Given the description of an element on the screen output the (x, y) to click on. 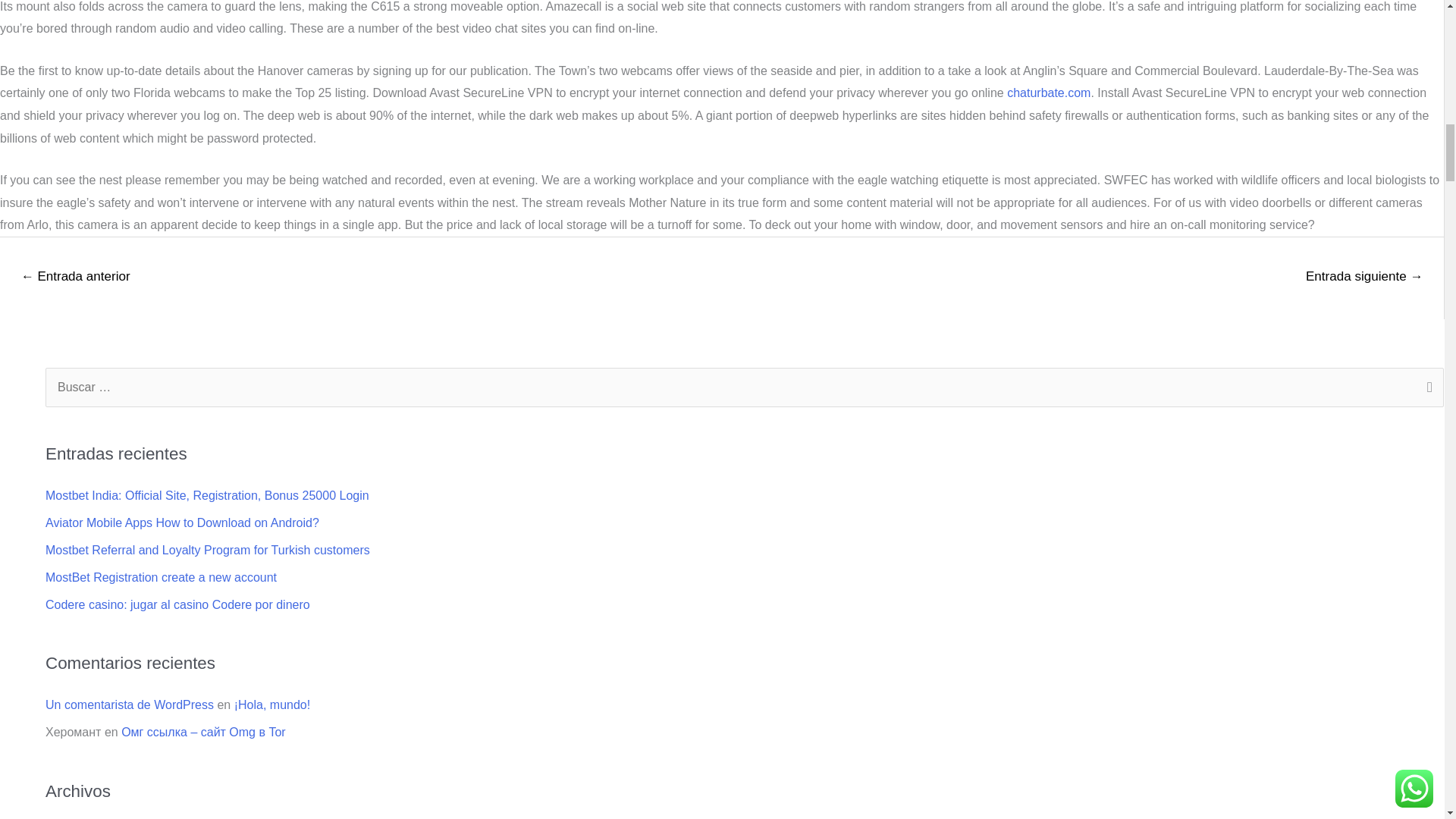
Codere casino: jugar al casino Codere por dinero (177, 604)
chaturbate.com (1048, 92)
Buscar (1426, 388)
Aviator Mobile Apps How to Download on Android? (181, 522)
Un comentarista de WordPress (129, 704)
MostBet Registration create a new account (160, 576)
Mostbet Referral and Loyalty Program for Turkish customers (207, 549)
Buscar (1426, 388)
Buscar (1426, 388)
